Given the description of an element on the screen output the (x, y) to click on. 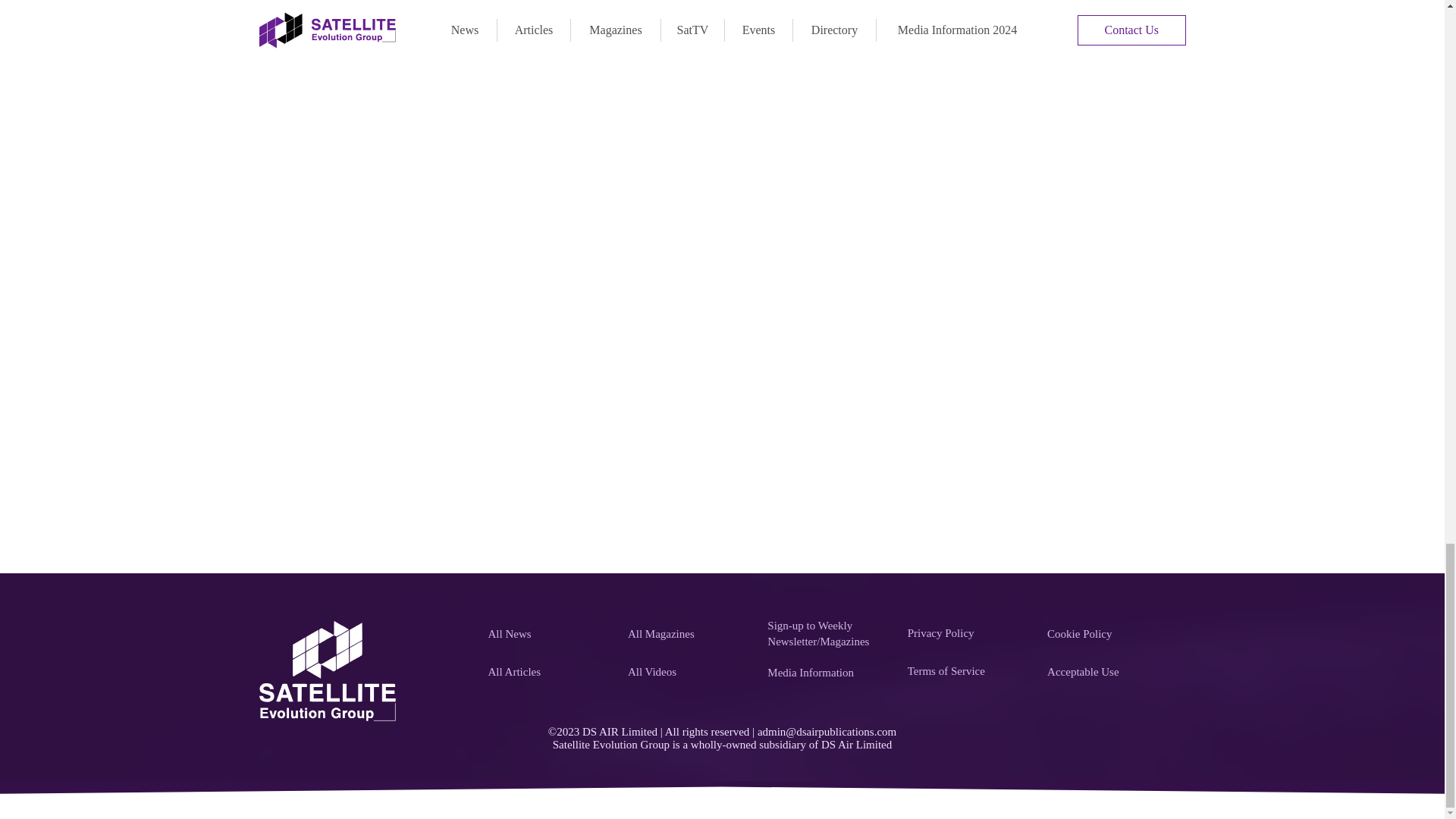
All Articles (549, 672)
All Videos (689, 672)
Acceptable Use (1108, 672)
Privacy Policy (968, 633)
All Magazines (689, 634)
All News (549, 634)
Cookie Policy (1108, 634)
Terms of Service (968, 671)
Media Information (828, 672)
